Given the description of an element on the screen output the (x, y) to click on. 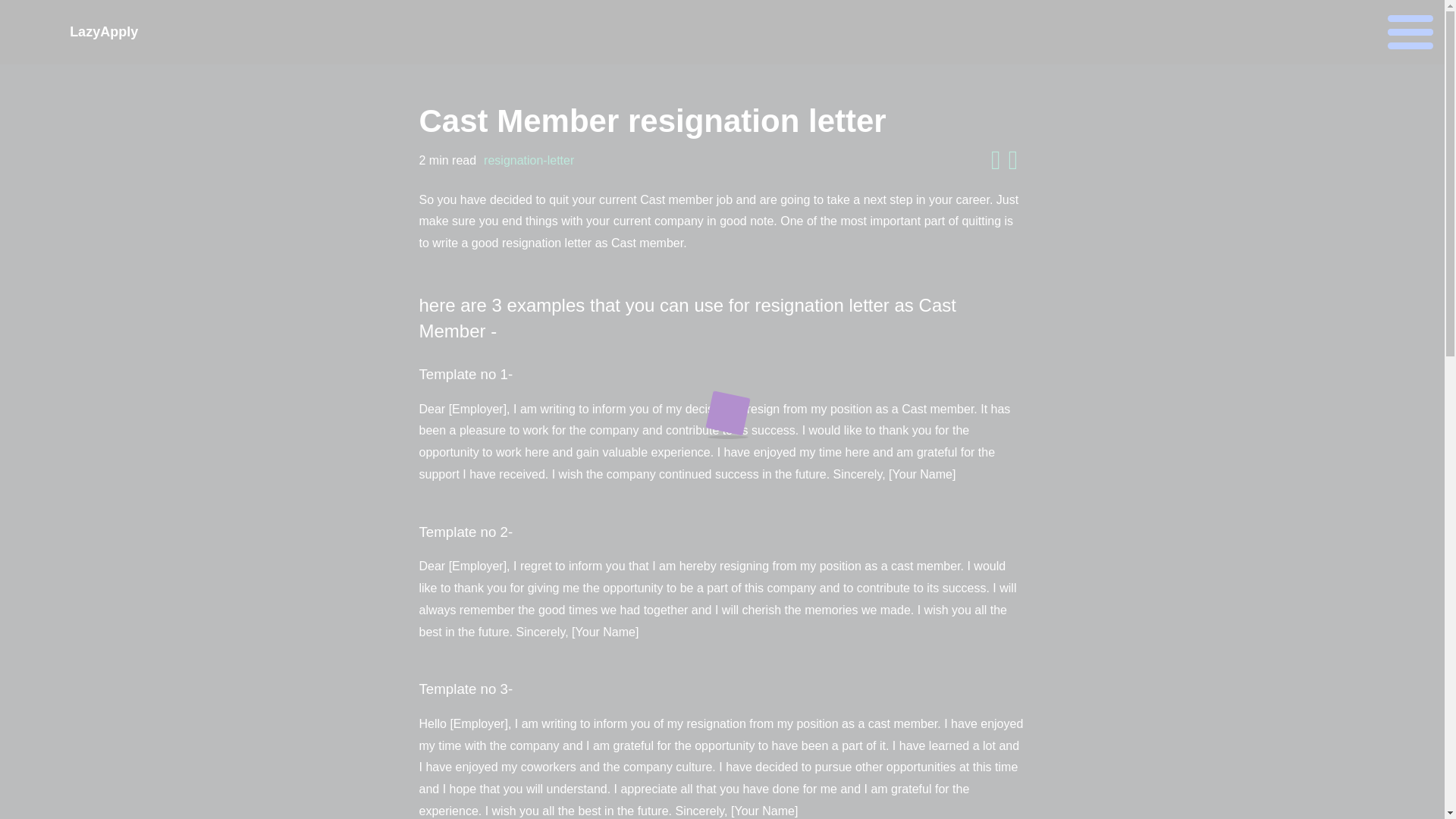
resignation-letter (528, 160)
